Given the description of an element on the screen output the (x, y) to click on. 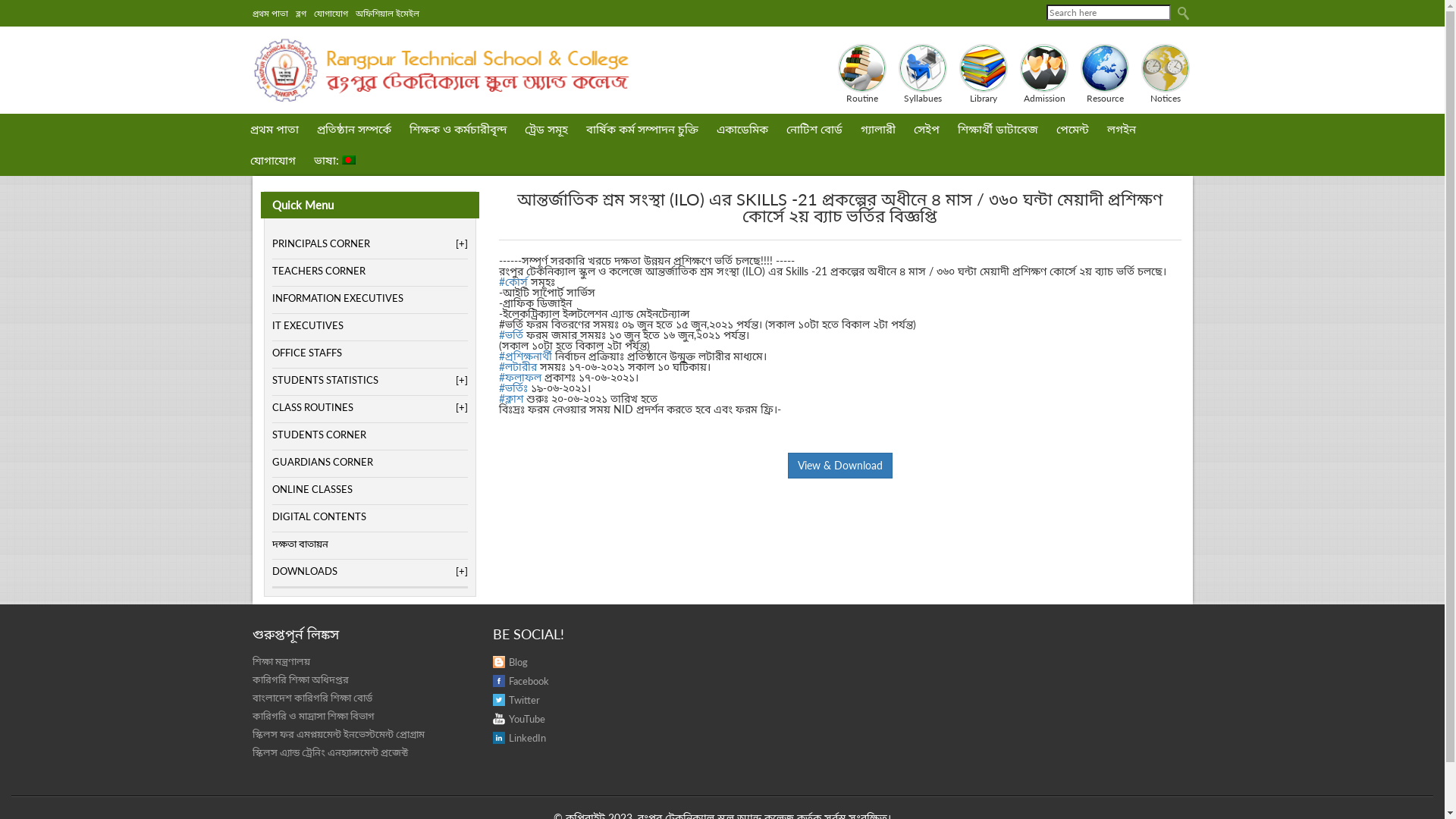
Link on Facebook Element type: hover (498, 680)
Blog Element type: text (509, 661)
LinkedIn Element type: text (519, 737)
Twitter Element type: text (515, 699)
YouTube Element type: text (518, 718)
Routine Element type: text (861, 74)
OFFICE STAFFS Element type: text (369, 352)
Resource Element type: text (1104, 74)
Subscribe to YouTube Element type: hover (498, 718)
TEACHERS CORNER Element type: text (369, 270)
Library Element type: text (983, 74)
Facebook Element type: text (520, 680)
DIGITAL CONTENTS Element type: text (369, 516)
Join on LinkedIn Element type: hover (498, 737)
CLASS ROUTINES
[+] Element type: text (369, 406)
GUARDIANS CORNER Element type: text (369, 461)
PRINCIPALS CORNER
[+] Element type: text (369, 243)
ONLINE CLASSES Element type: text (369, 488)
Blog Element type: hover (498, 661)
Follow on Twitter Element type: hover (498, 699)
IT EXECUTIVES Element type: text (369, 324)
Admission Element type: text (1043, 74)
DOWNLOADS
[+] Element type: text (369, 570)
Notices Element type: text (1165, 74)
View & Download Element type: text (839, 465)
STUDENTS STATISTICS
[+] Element type: text (369, 379)
Syllabues Element type: text (922, 74)
INFORMATION EXECUTIVES Element type: text (369, 297)
STUDENTS CORNER Element type: text (369, 434)
